Given the description of an element on the screen output the (x, y) to click on. 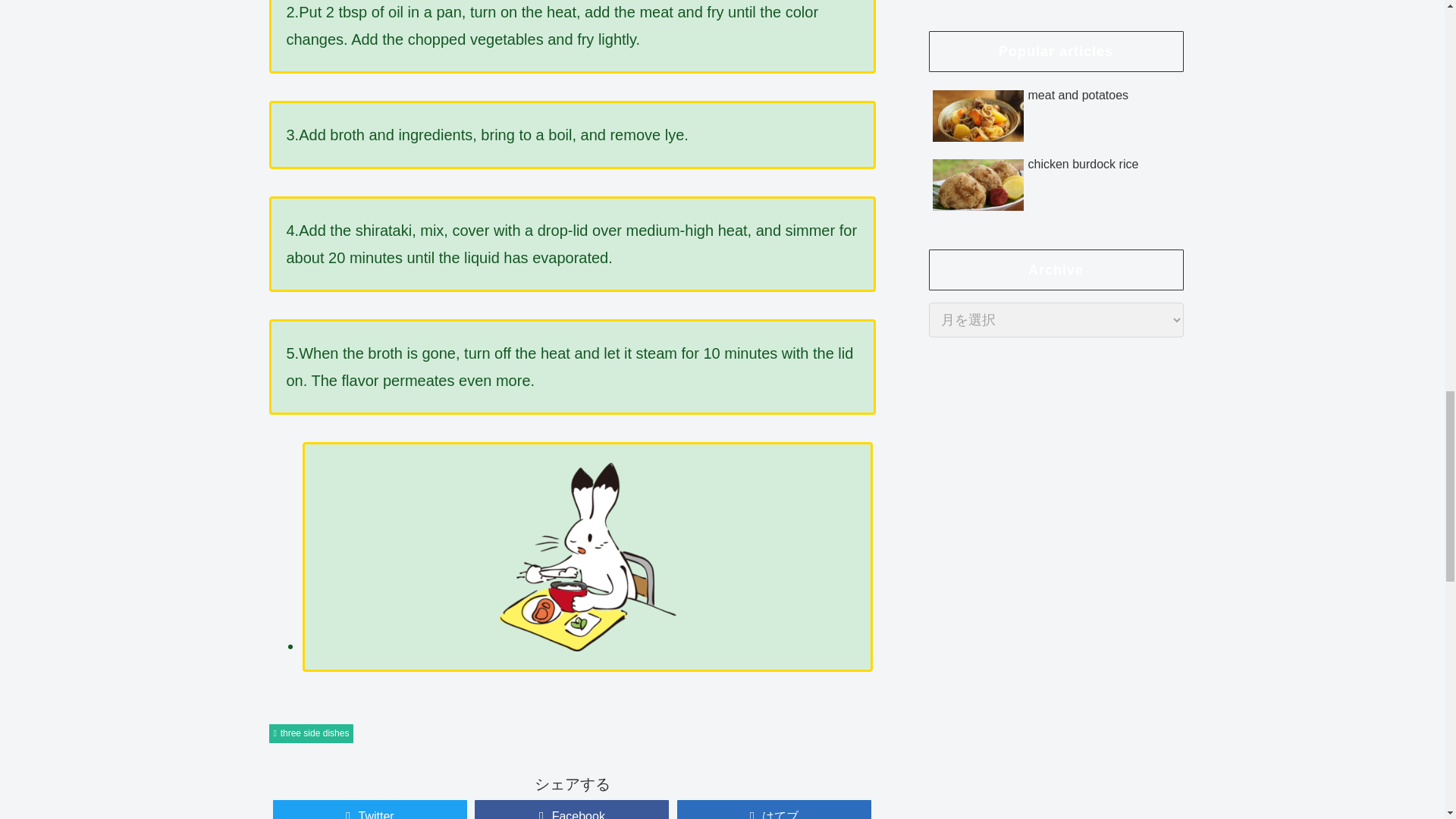
Archive (1055, 269)
three side dishes (310, 733)
Popular articles (1055, 126)
Twitter (1055, 51)
meat and potatoes (370, 809)
Facebook (773, 809)
